Given the description of an element on the screen output the (x, y) to click on. 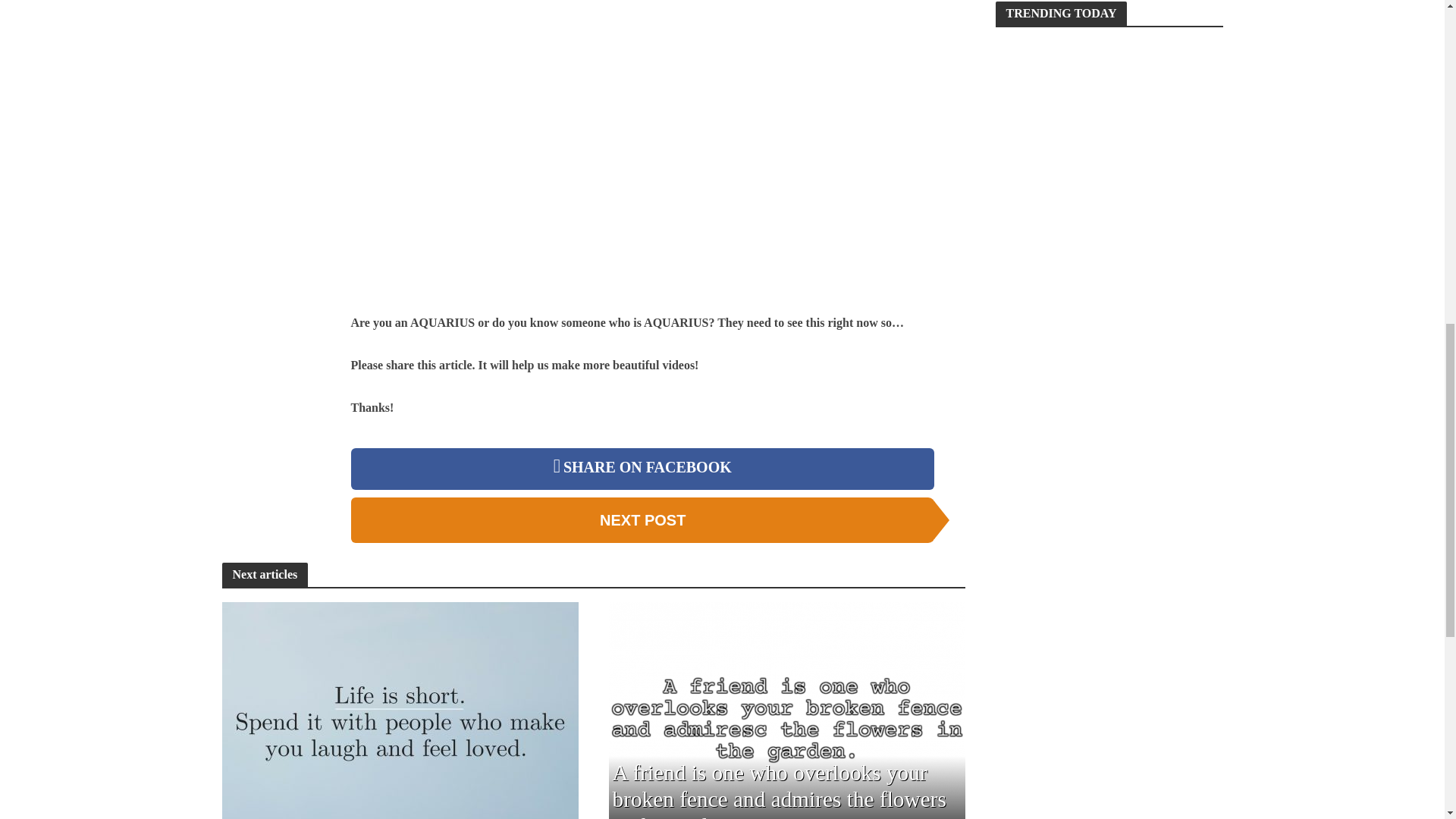
Advertisement (272, 40)
